Given the description of an element on the screen output the (x, y) to click on. 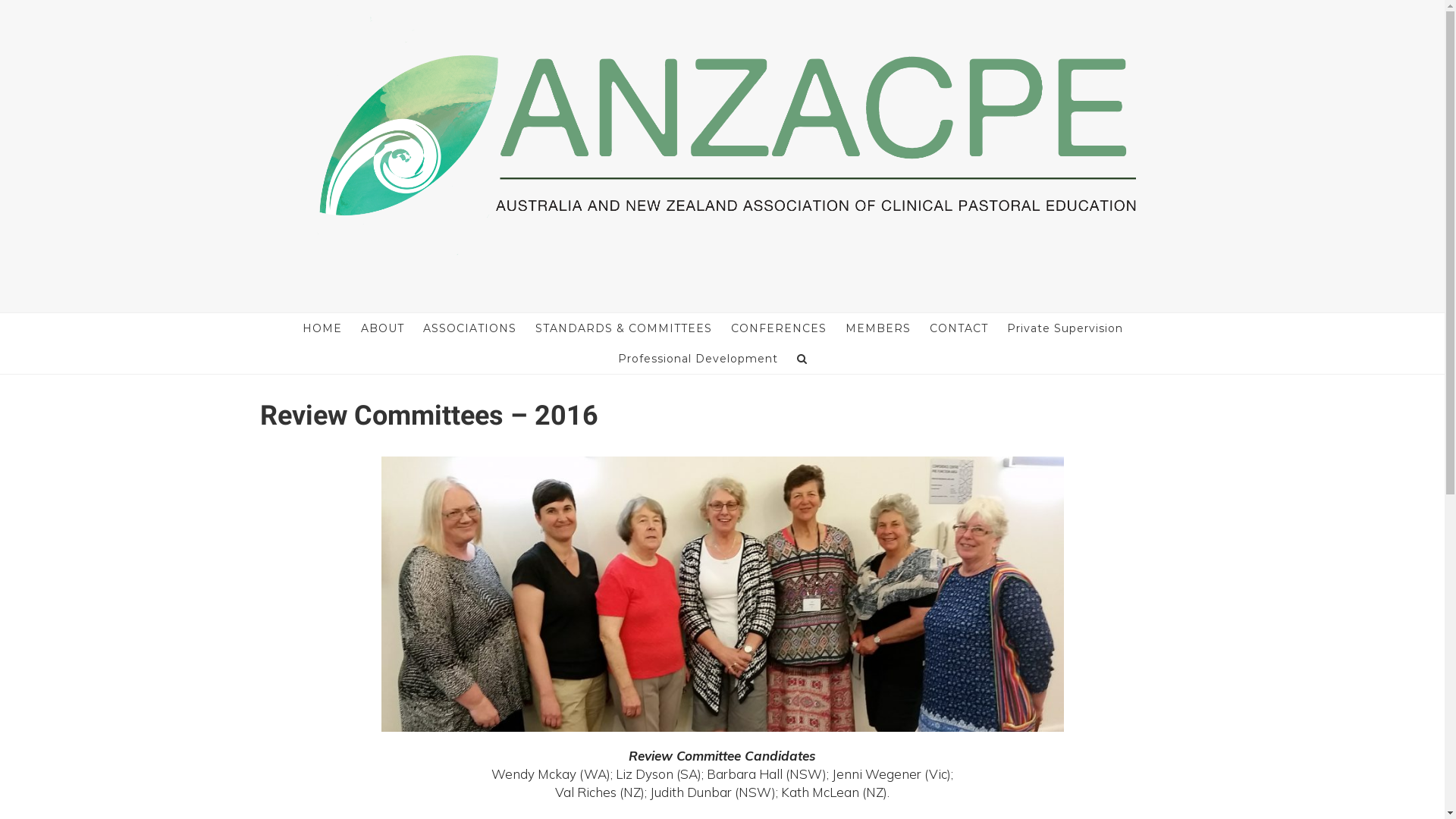
HOME Element type: text (322, 328)
ASSOCIATIONS Element type: text (469, 328)
Private Supervision Element type: text (1065, 328)
CONTACT Element type: text (958, 328)
CONFERENCES Element type: text (778, 328)
ABOUT Element type: text (382, 328)
Search Element type: hover (802, 358)
Professional Development Element type: text (698, 358)
STANDARDS & COMMITTEES Element type: text (623, 328)
MEMBERS Element type: text (877, 328)
